Given the description of an element on the screen output the (x, y) to click on. 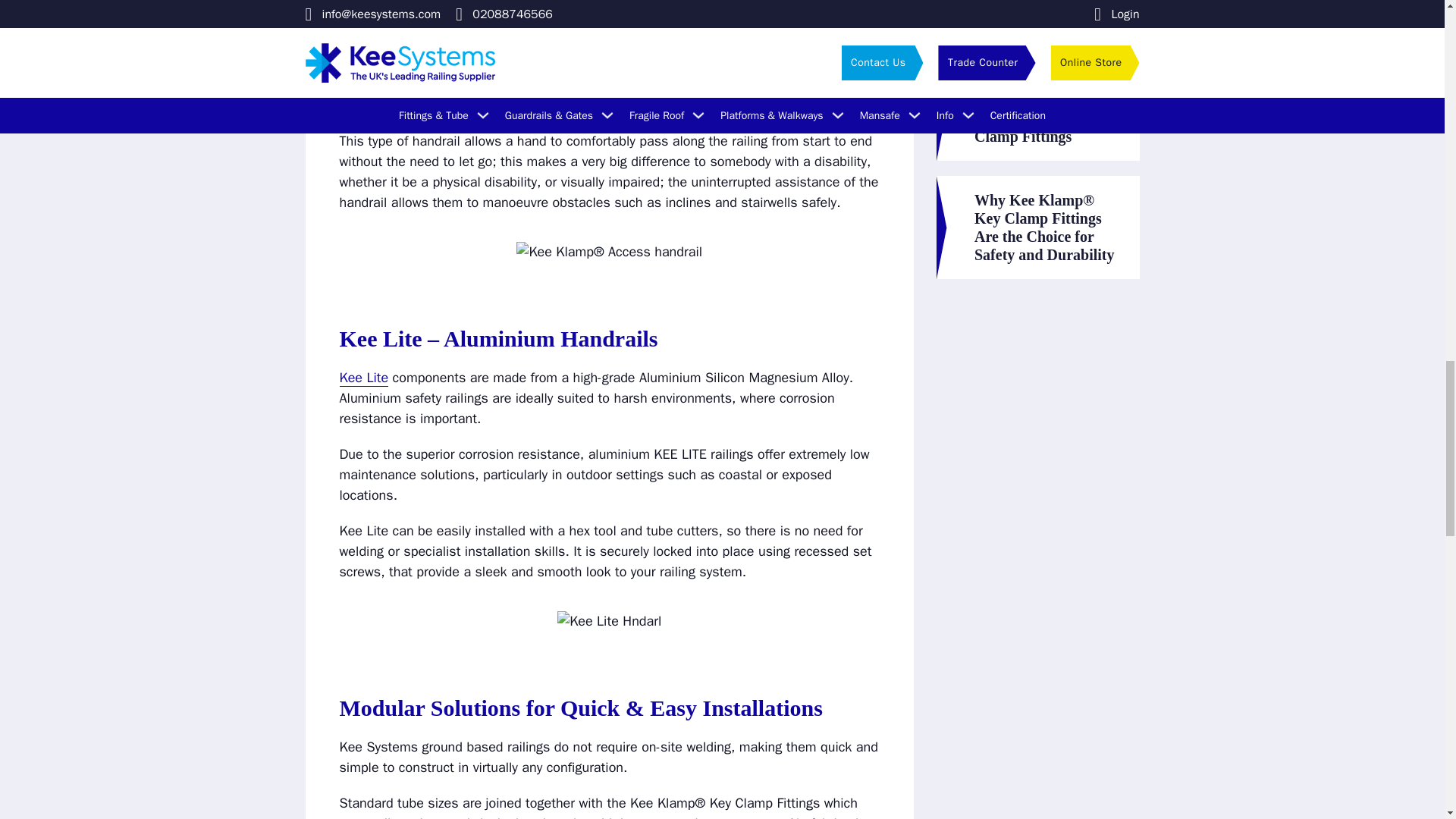
Kee Systems: The One Stop Company for Handrails 3 (609, 620)
Kee Systems: The One Stop Company for Handrails 2 (608, 251)
